Given the description of an element on the screen output the (x, y) to click on. 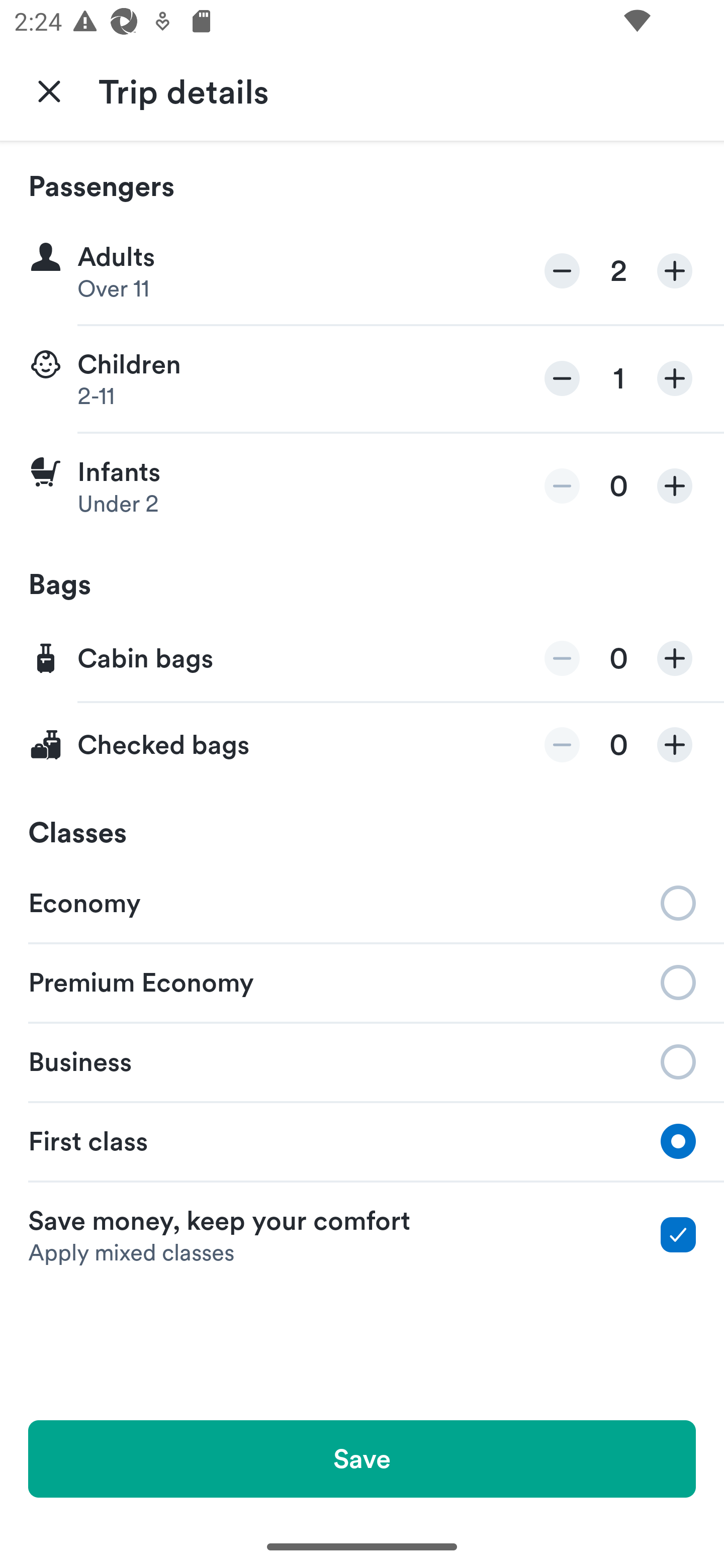
Navigate up (49, 90)
Remove 2 Add Adults Over 11 (362, 271)
Remove (561, 270)
Add (674, 270)
Remove 1 Add Children 2-11 (362, 379)
Remove (561, 377)
Add (674, 377)
Remove 0 Add Infants Under 2 (362, 485)
Remove (561, 485)
Add (674, 485)
Remove 0 Add Cabin bags (362, 659)
Remove (561, 658)
Add (674, 658)
Remove 0 Add Checked bags (362, 744)
Remove (561, 744)
Add (674, 744)
Economy (362, 901)
Premium Economy (362, 980)
Business (362, 1060)
Save (361, 1458)
